Given the description of an element on the screen output the (x, y) to click on. 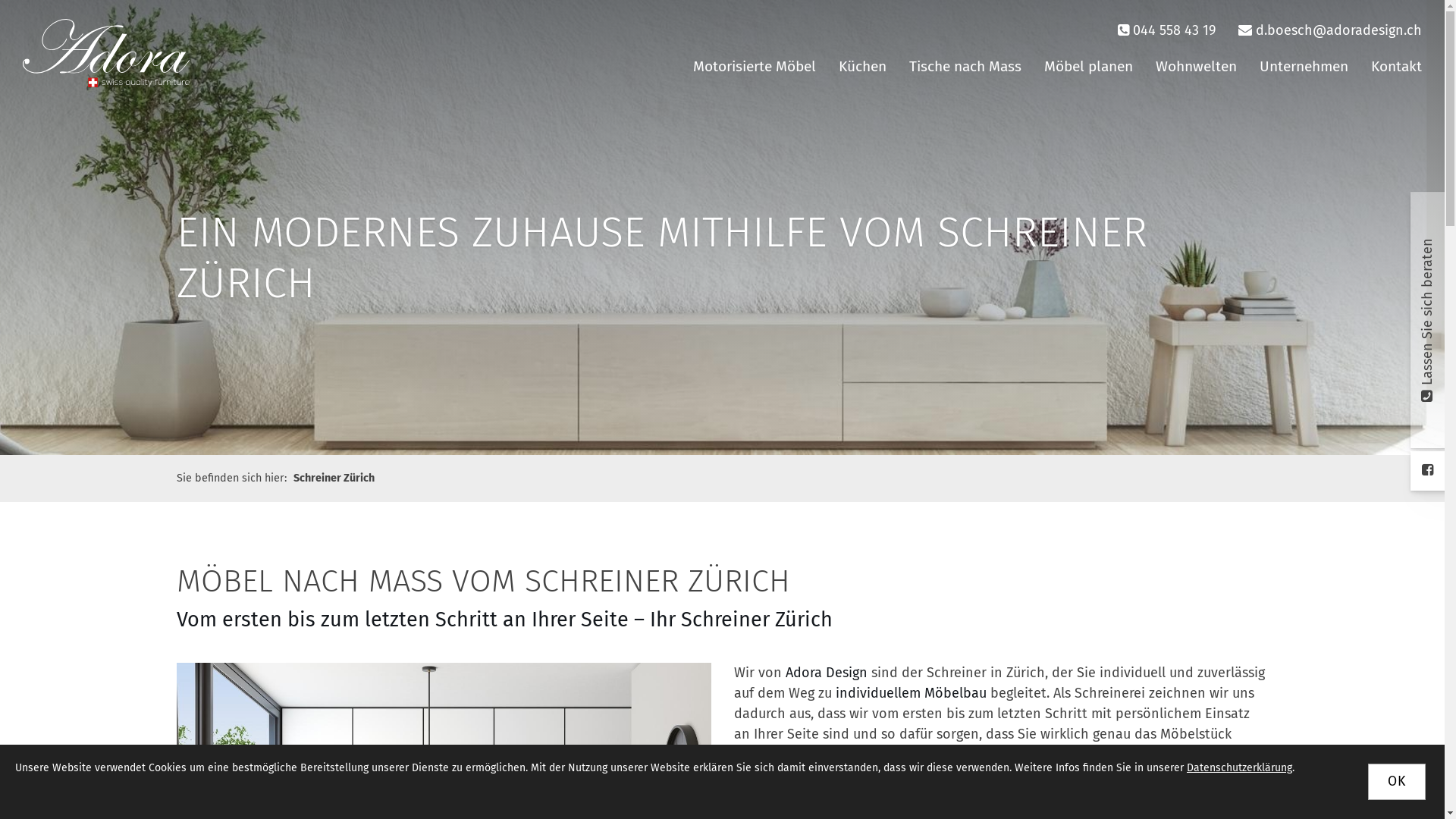
Tische nach Mass Element type: text (964, 66)
d.boesch@adoradesign.ch Element type: text (1338, 29)
044 558 43 19 Element type: text (1173, 29)
Kontakt Element type: text (1396, 66)
OK Element type: text (1396, 781)
Adora Design Element type: text (826, 672)
Unternehmen Element type: text (1303, 66)
Wohnwelten Element type: text (1196, 66)
